Given the description of an element on the screen output the (x, y) to click on. 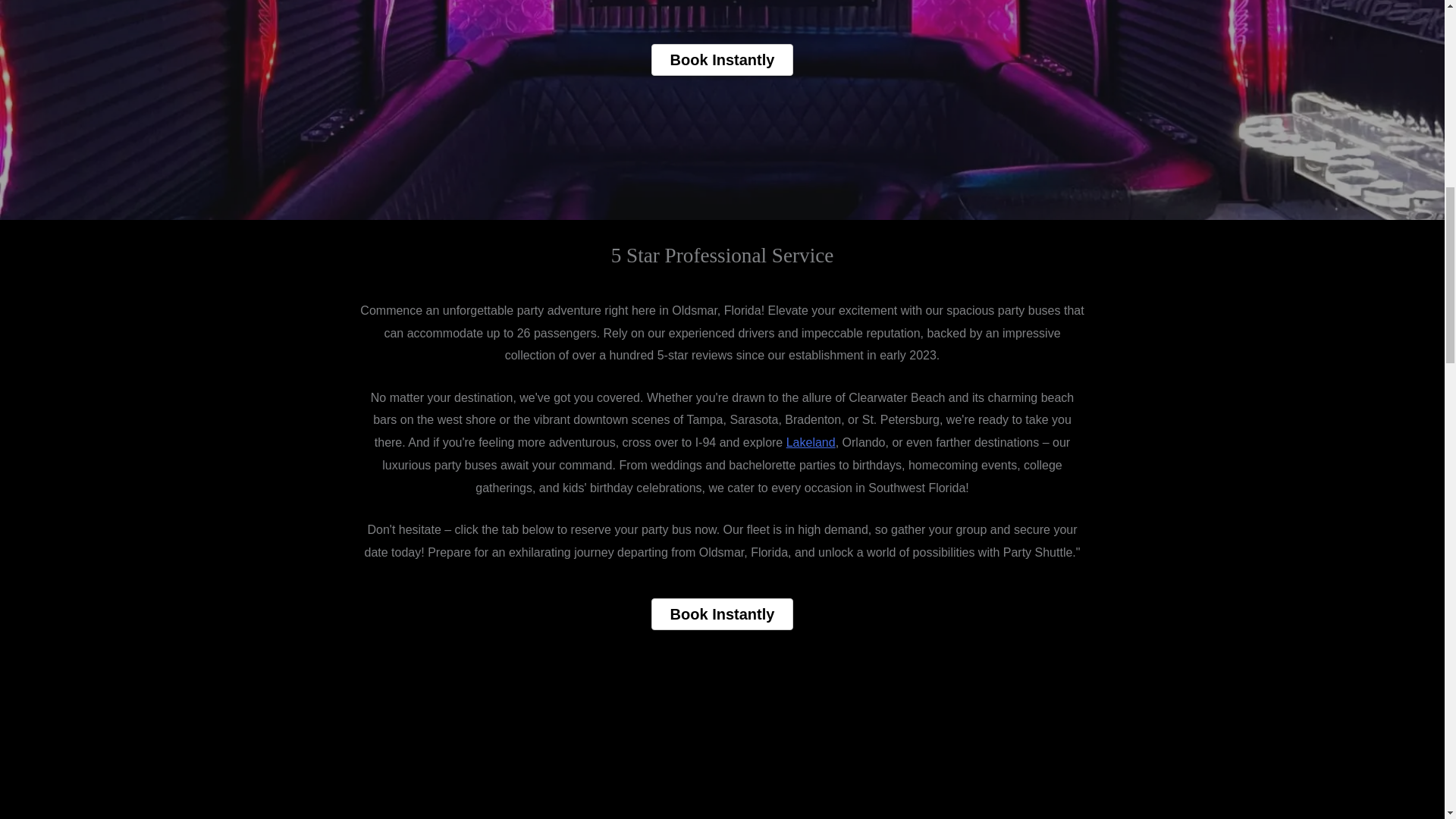
YouTube video player (721, 755)
